Given the description of an element on the screen output the (x, y) to click on. 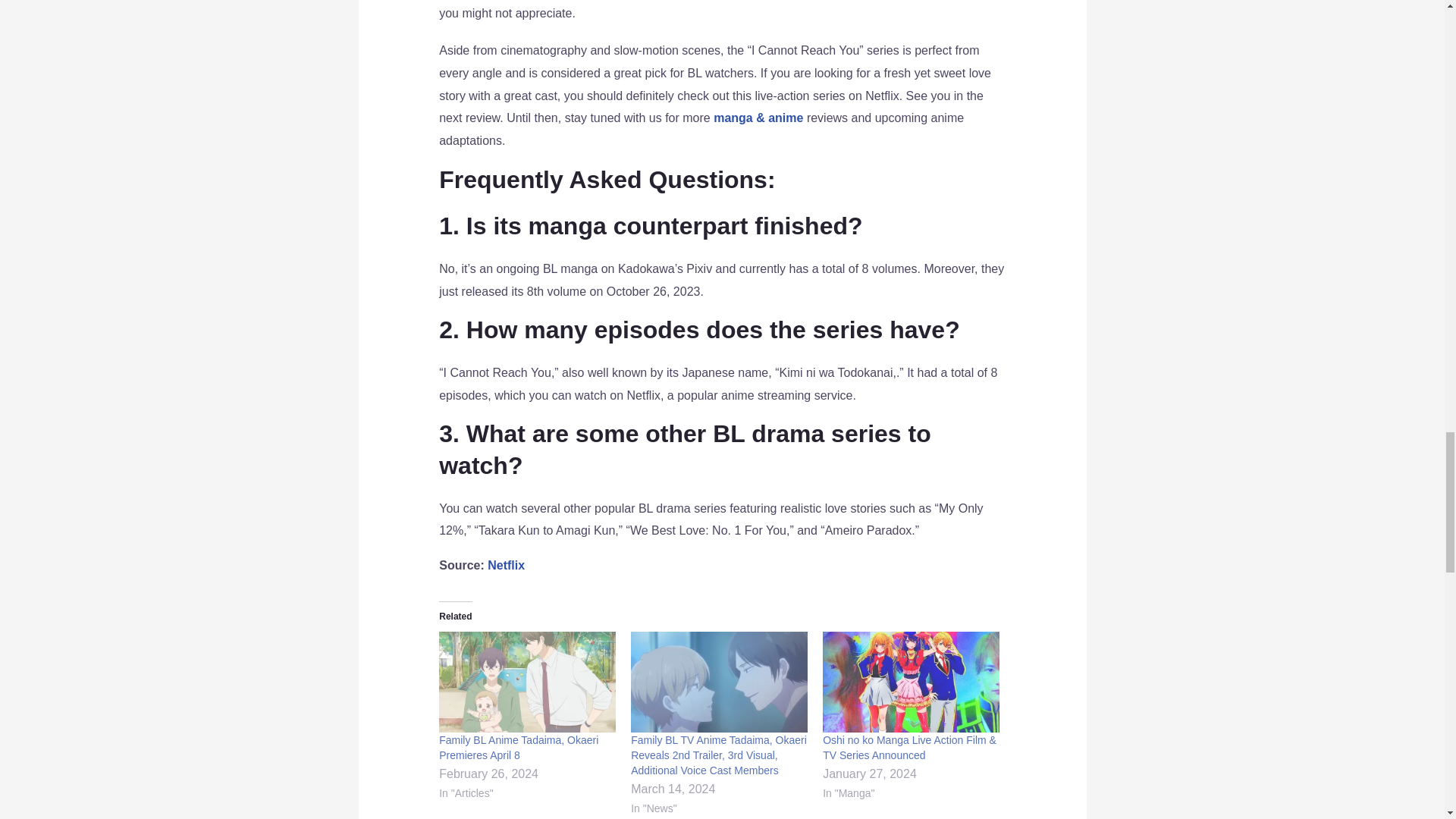
Family BL Anime Tadaima, Okaeri Premieres April 8 (527, 681)
Netflix (505, 564)
Family BL Anime Tadaima, Okaeri Premieres April 8 (518, 747)
